Given the description of an element on the screen output the (x, y) to click on. 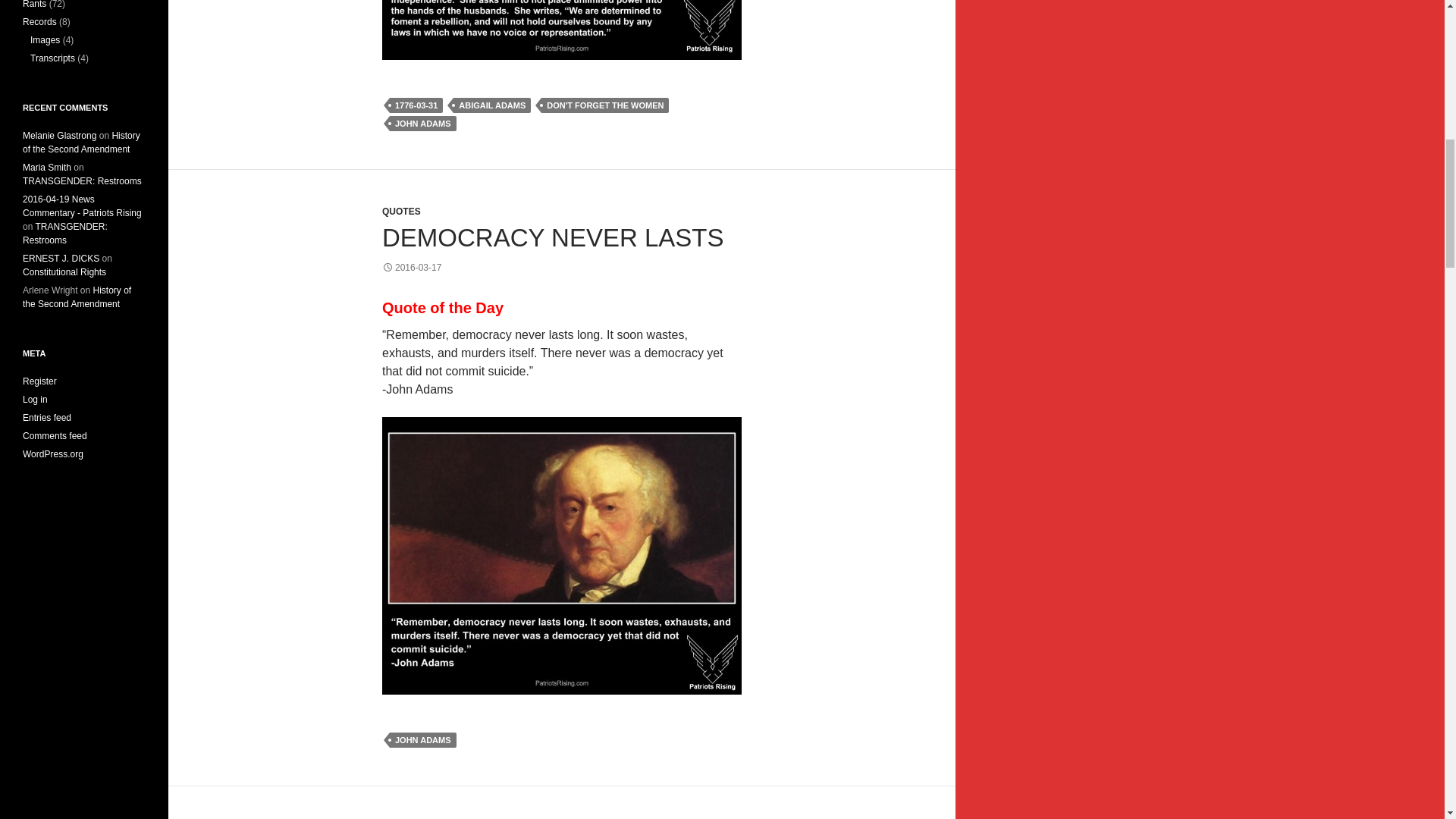
DEMOCRACY NEVER LASTS (552, 237)
DON'T FORGET THE WOMEN (604, 105)
QUOTES (400, 211)
JOHN ADAMS (423, 739)
2016-03-17 (411, 267)
JOHN ADAMS (423, 123)
ABIGAIL ADAMS (491, 105)
1776-03-31 (416, 105)
